Given the description of an element on the screen output the (x, y) to click on. 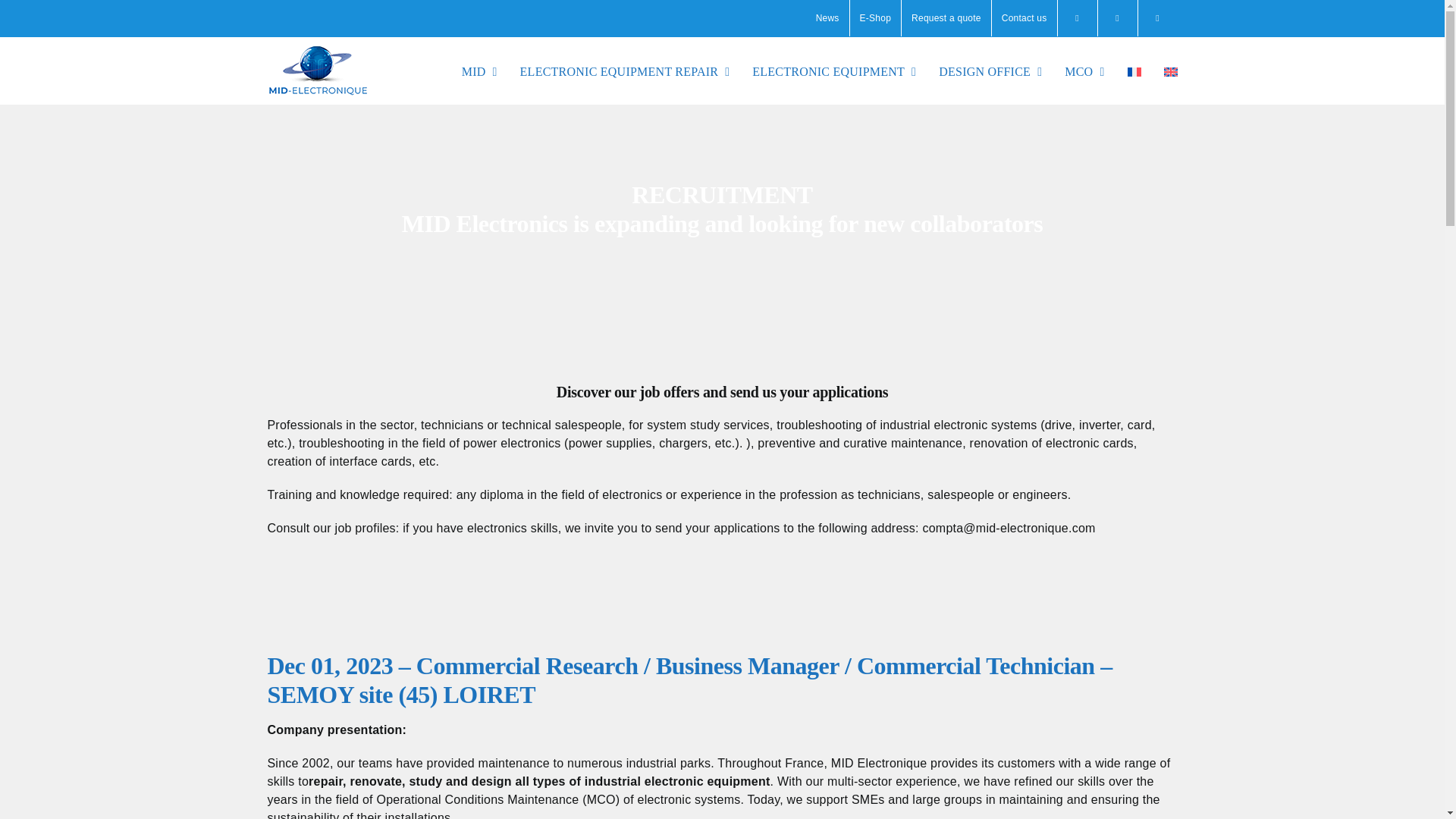
ELECTRONIC EQUIPMENT (833, 70)
Contact us (1024, 18)
DESIGN OFFICE (990, 70)
ELECTRONIC EQUIPMENT REPAIR (624, 70)
Request a quote (946, 18)
News (827, 18)
E-Shop (875, 18)
